Given the description of an element on the screen output the (x, y) to click on. 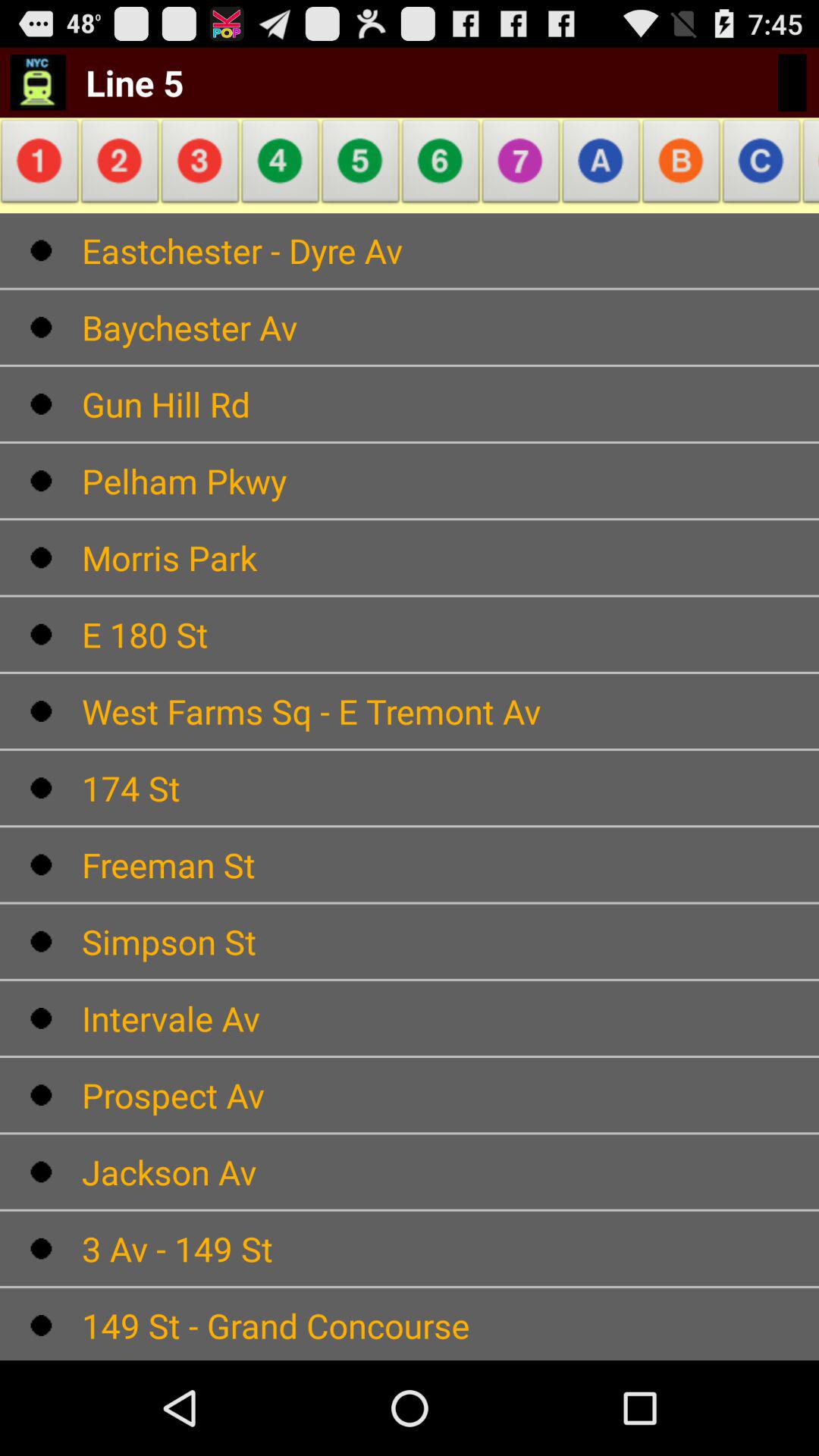
turn on app below the west farms sq icon (450, 787)
